Given the description of an element on the screen output the (x, y) to click on. 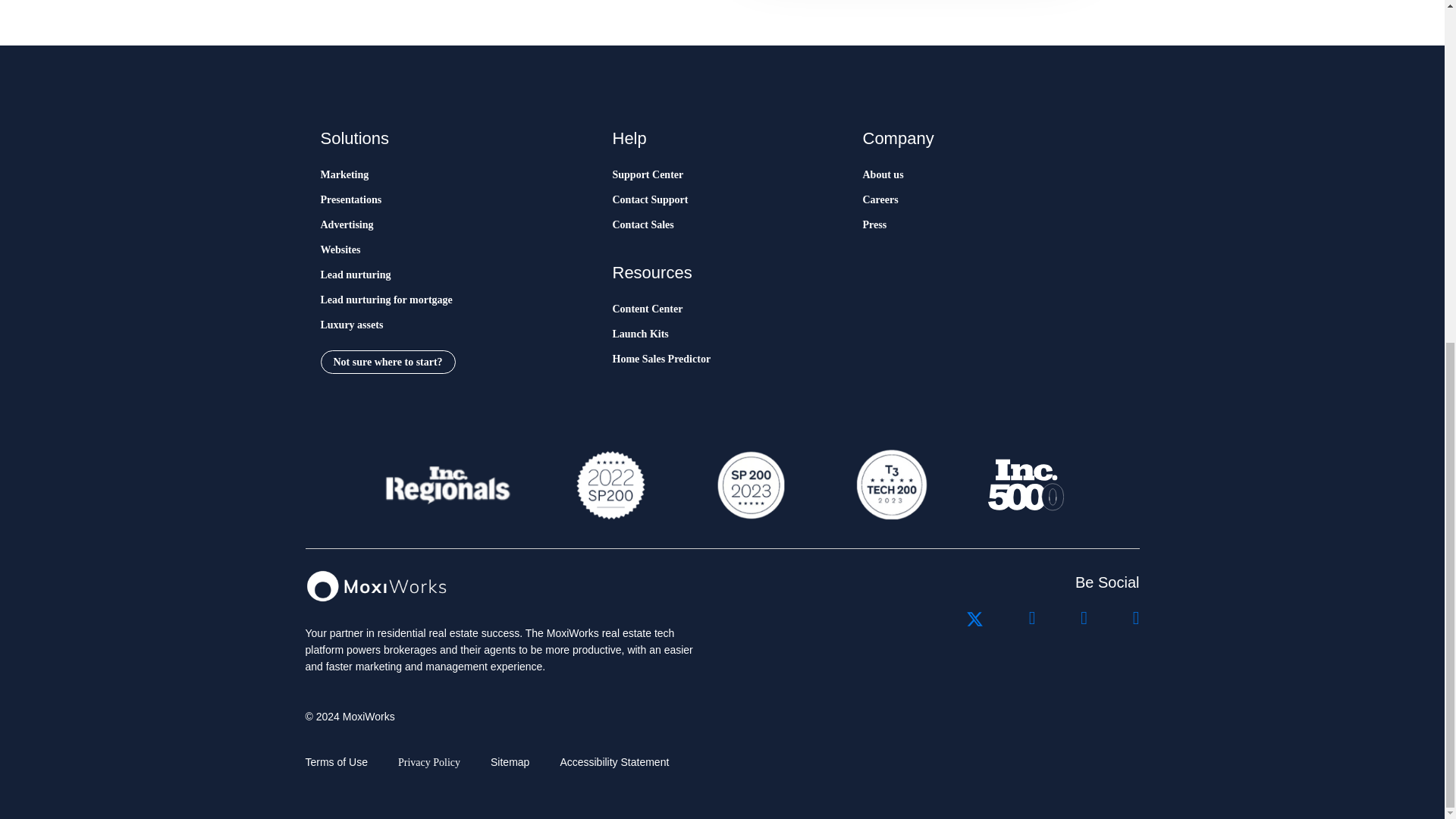
T3 tech 200 2023 (890, 484)
SP 2022 (610, 484)
SP 2023 (749, 484)
